Given the description of an element on the screen output the (x, y) to click on. 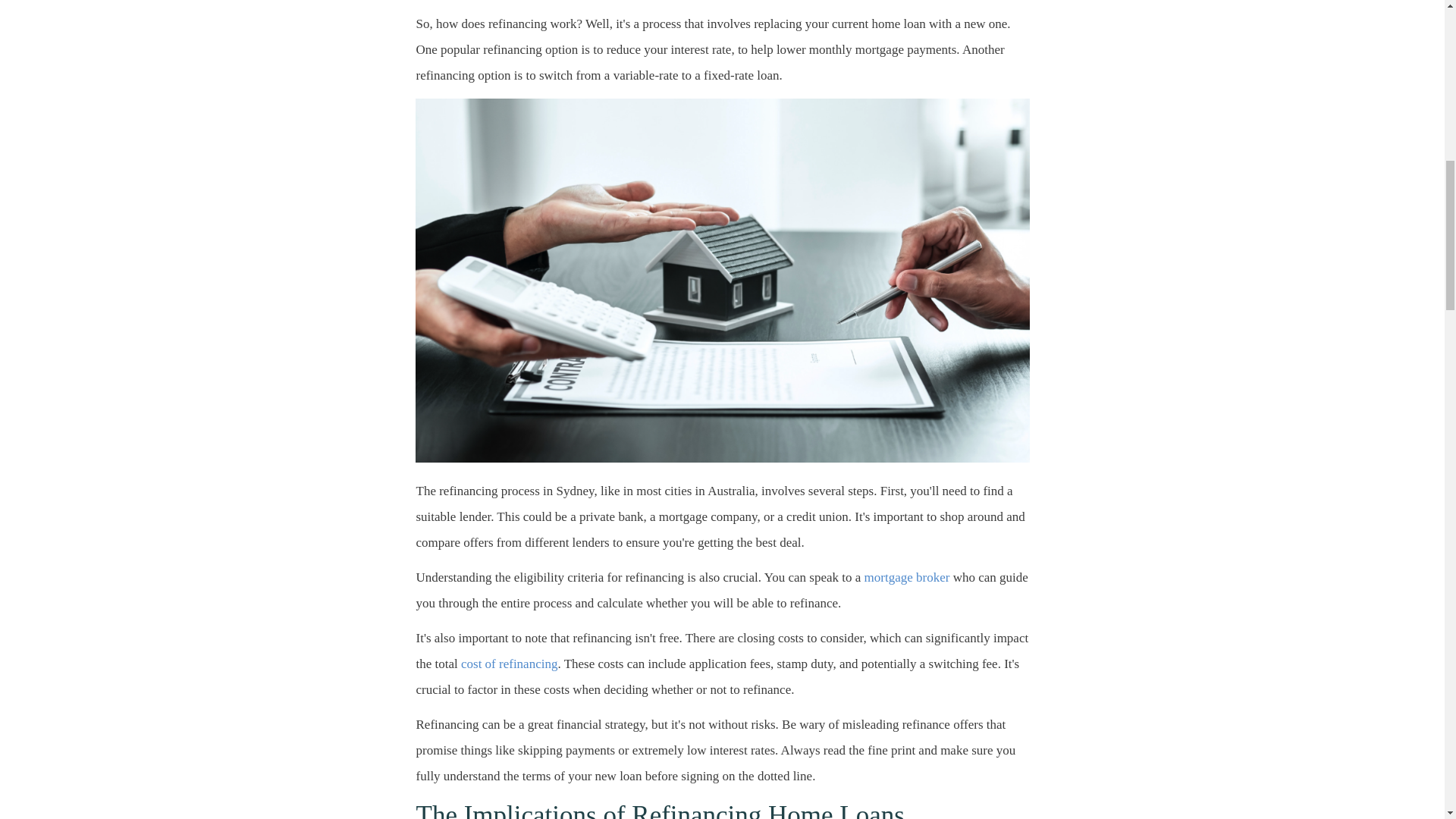
cost of refinancing (507, 663)
mortgage broker (904, 577)
